Given the description of an element on the screen output the (x, y) to click on. 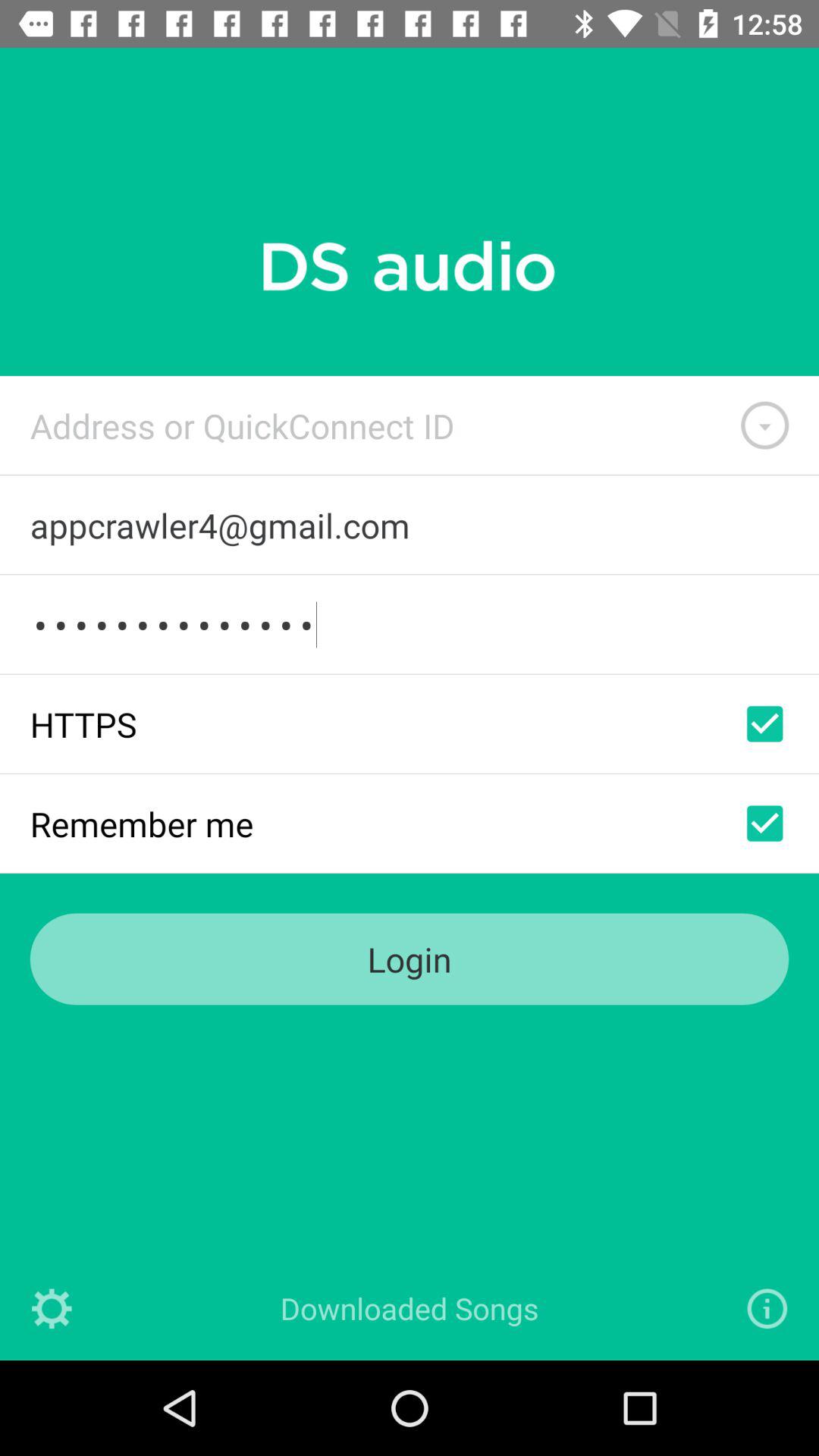
check the address options (764, 425)
